Given the description of an element on the screen output the (x, y) to click on. 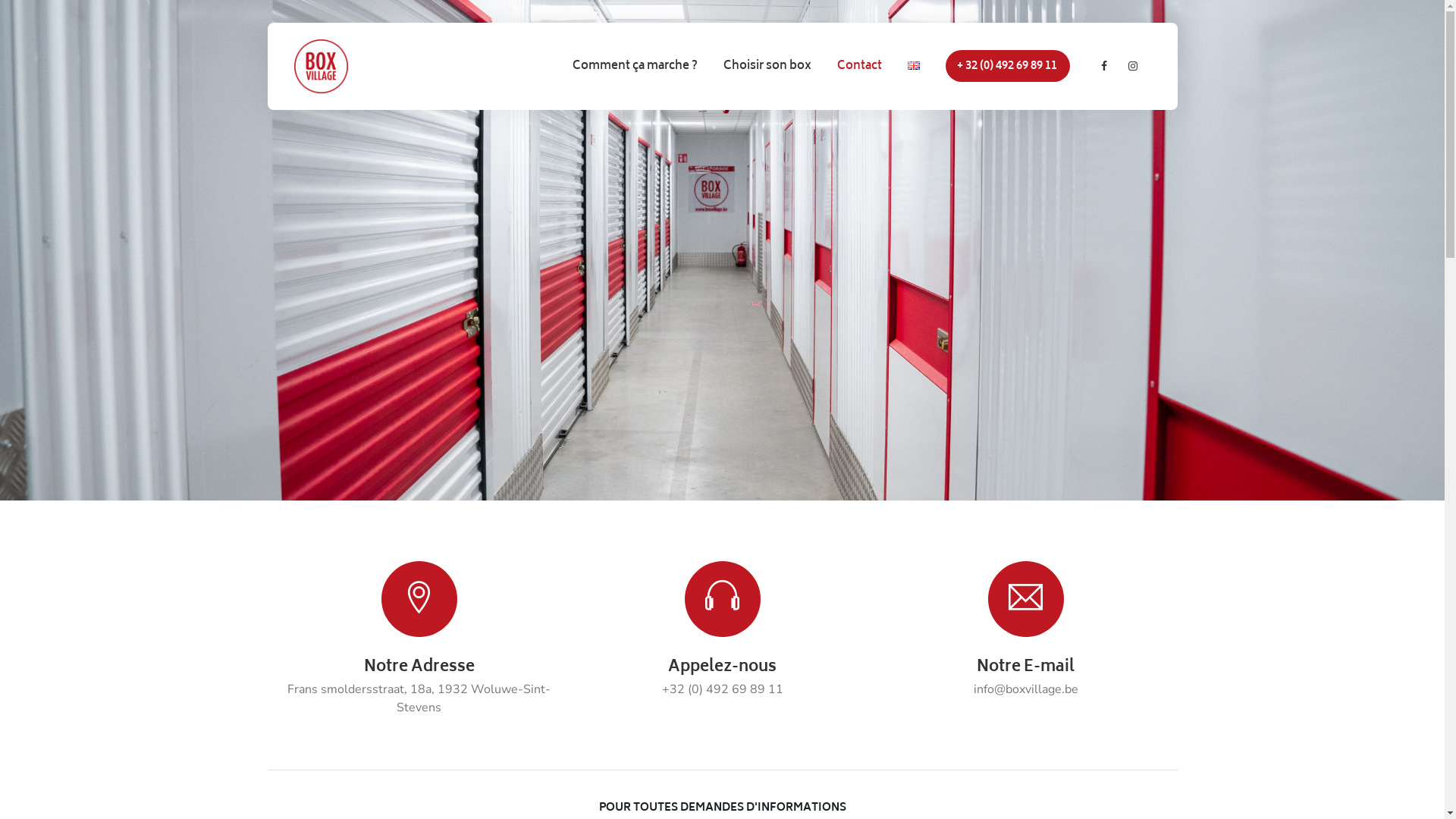
Choisir son box Element type: text (767, 65)
Appelez-nous Element type: text (722, 667)
Contact Element type: text (859, 65)
Notre E-mail Element type: text (1025, 667)
+ 32 (0) 492 69 89 11 Element type: text (1006, 65)
BoxVillage Element type: hover (321, 65)
